Given the description of an element on the screen output the (x, y) to click on. 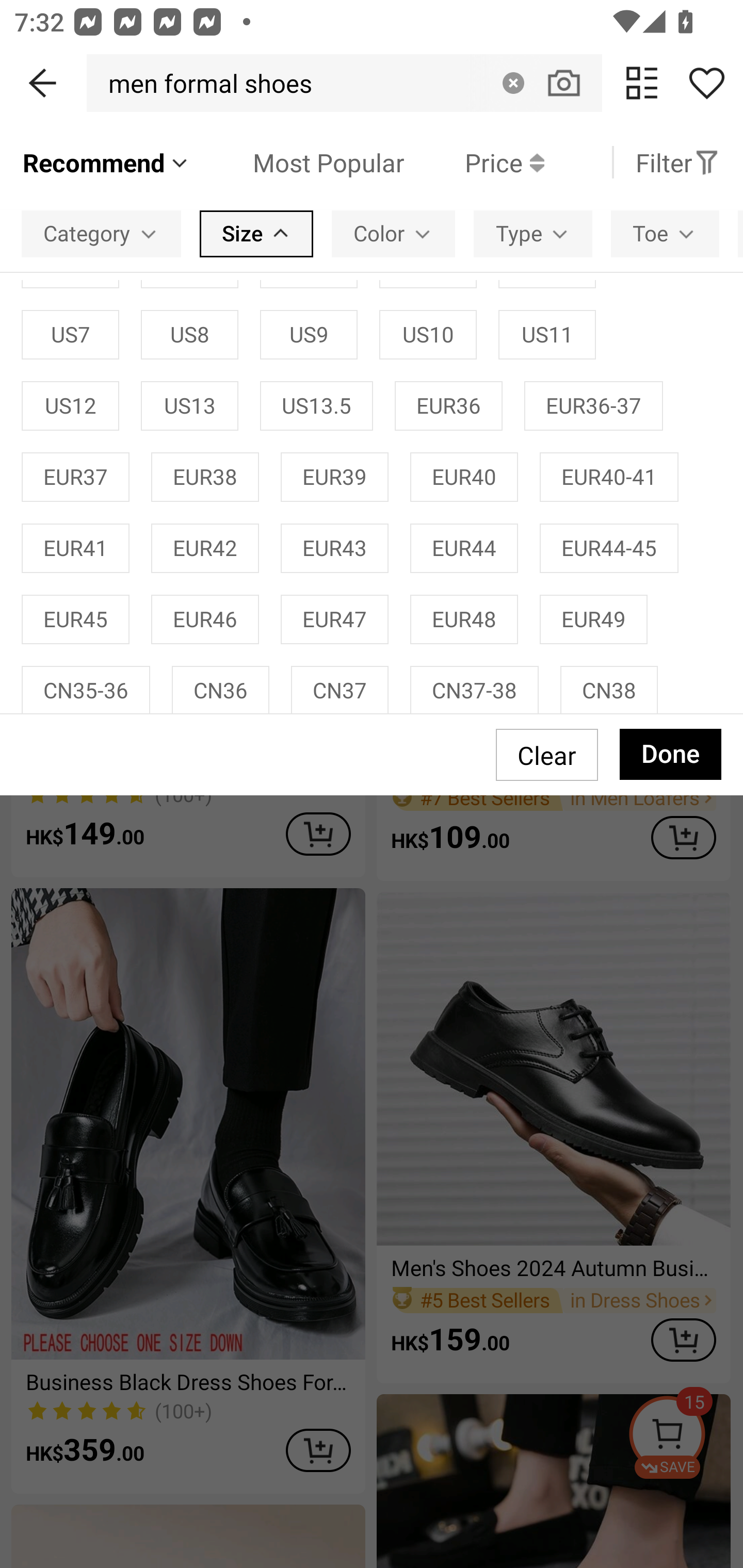
men formal shoes Clear (343, 82)
men formal shoes (204, 82)
Clear (513, 82)
change view (641, 82)
Share (706, 82)
Recommend (106, 162)
Most Popular (297, 162)
Price (474, 162)
Filter (677, 162)
Category (101, 233)
Size (256, 233)
Color (393, 233)
Type (533, 233)
Toe (664, 233)
